Given the description of an element on the screen output the (x, y) to click on. 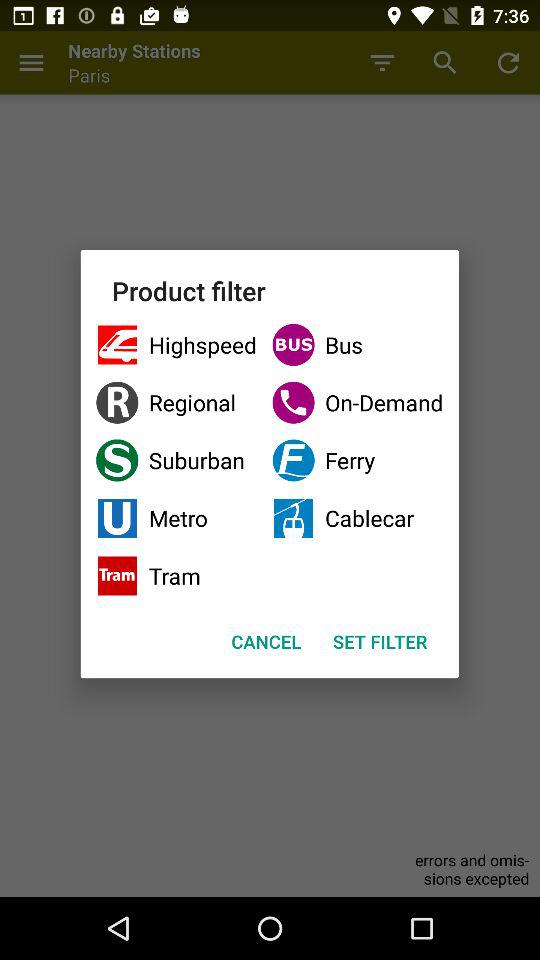
press icon below the product filter item (176, 344)
